Given the description of an element on the screen output the (x, y) to click on. 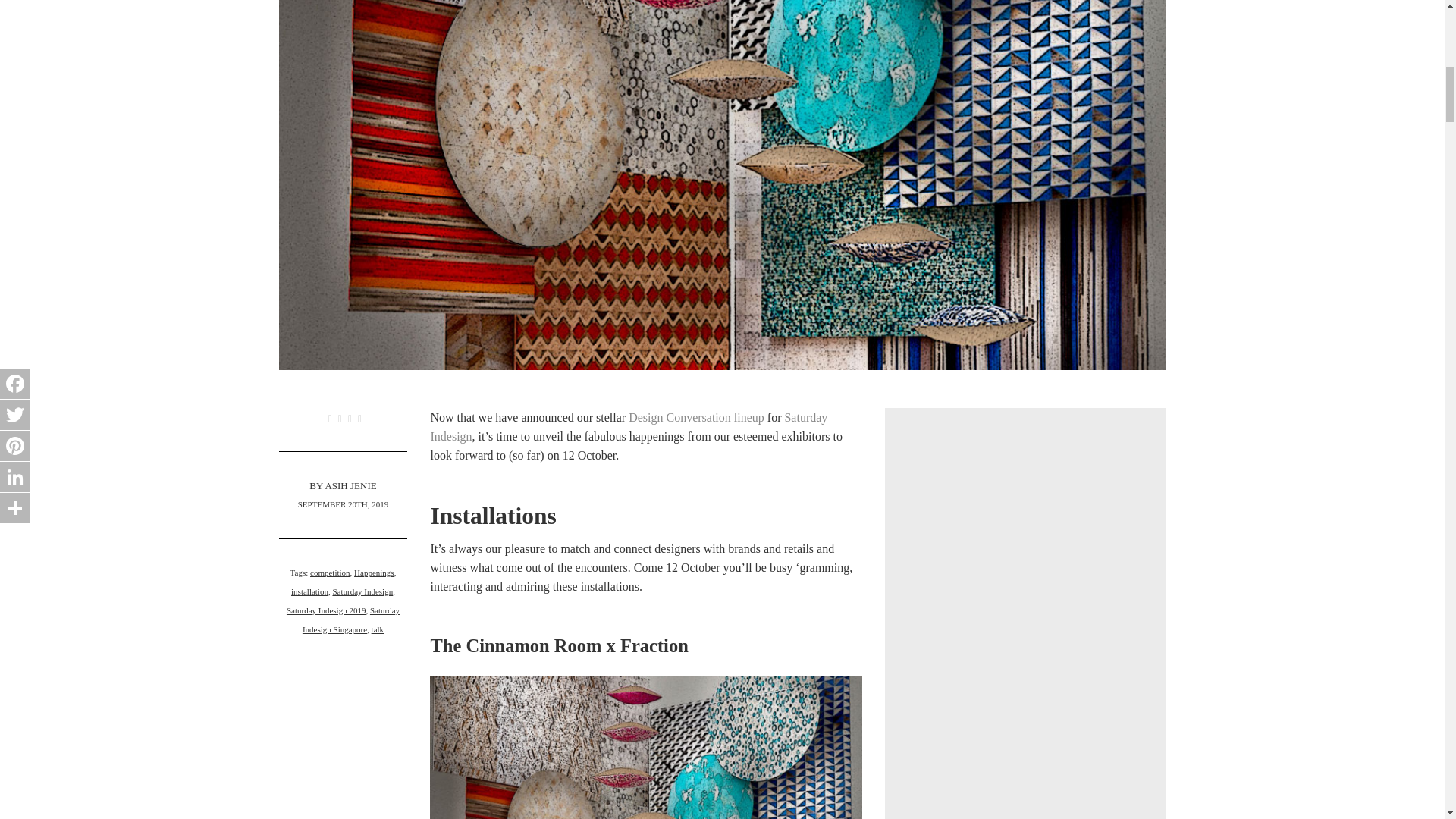
Posts by Asih Jenie (349, 485)
